Given the description of an element on the screen output the (x, y) to click on. 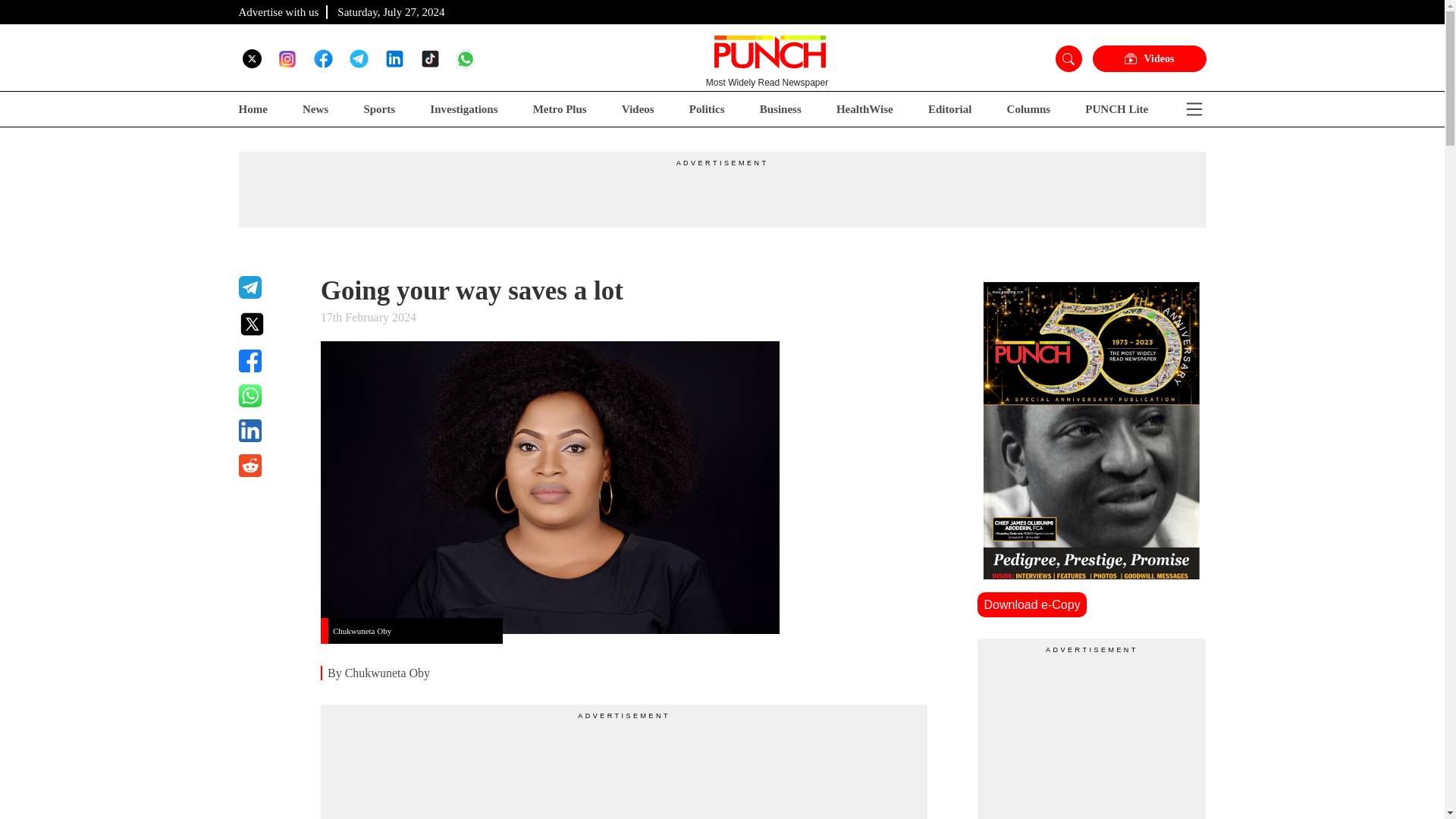
Business (781, 109)
Advertise with us (278, 11)
HealthWise (864, 109)
Politics (706, 109)
Follow Us on X (252, 58)
Follow Us on Facebook (323, 58)
Metro Plus (559, 109)
Videos (637, 109)
Share on Facbook (269, 360)
Share on Telegram (269, 287)
Columns (1029, 109)
Sports (378, 109)
Share on Twitter (269, 324)
Investigations (463, 109)
Follow Our Channel on Telegram (358, 58)
